Given the description of an element on the screen output the (x, y) to click on. 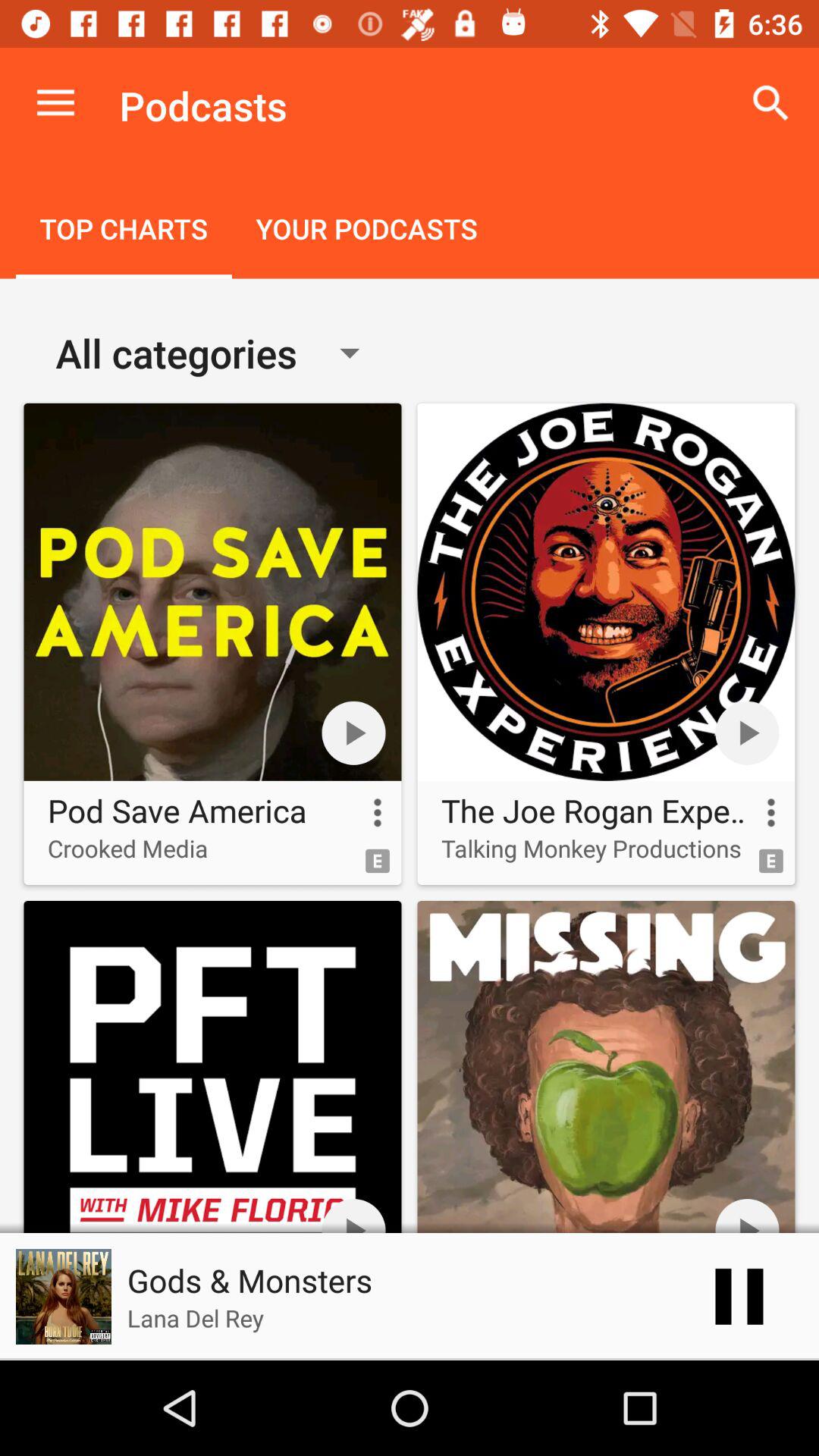
tap item to the right of gods & monsters item (739, 1296)
